Given the description of an element on the screen output the (x, y) to click on. 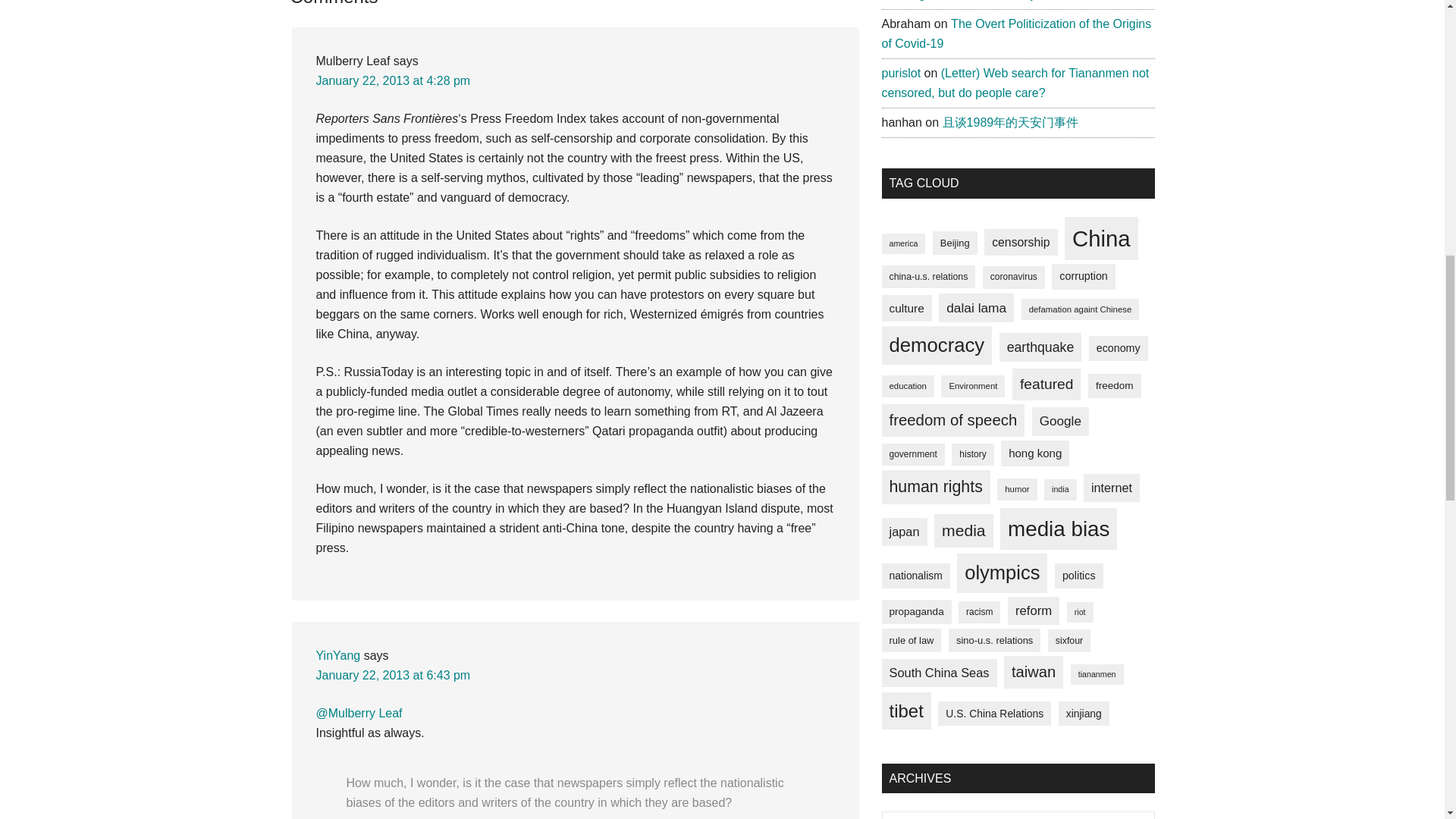
dalai lama (976, 307)
corruption (1083, 276)
censorship (1020, 242)
coronavirus (1013, 277)
culture (905, 307)
china-u.s. relations (927, 276)
January 22, 2013 at 6:43 pm (392, 675)
The Overt Politicization of the Origins of Covid-19 (1015, 33)
Beijing (954, 242)
China (1101, 239)
purislot (900, 72)
YinYang (337, 655)
January 22, 2013 at 4:28 pm (392, 80)
america (902, 243)
